Given the description of an element on the screen output the (x, y) to click on. 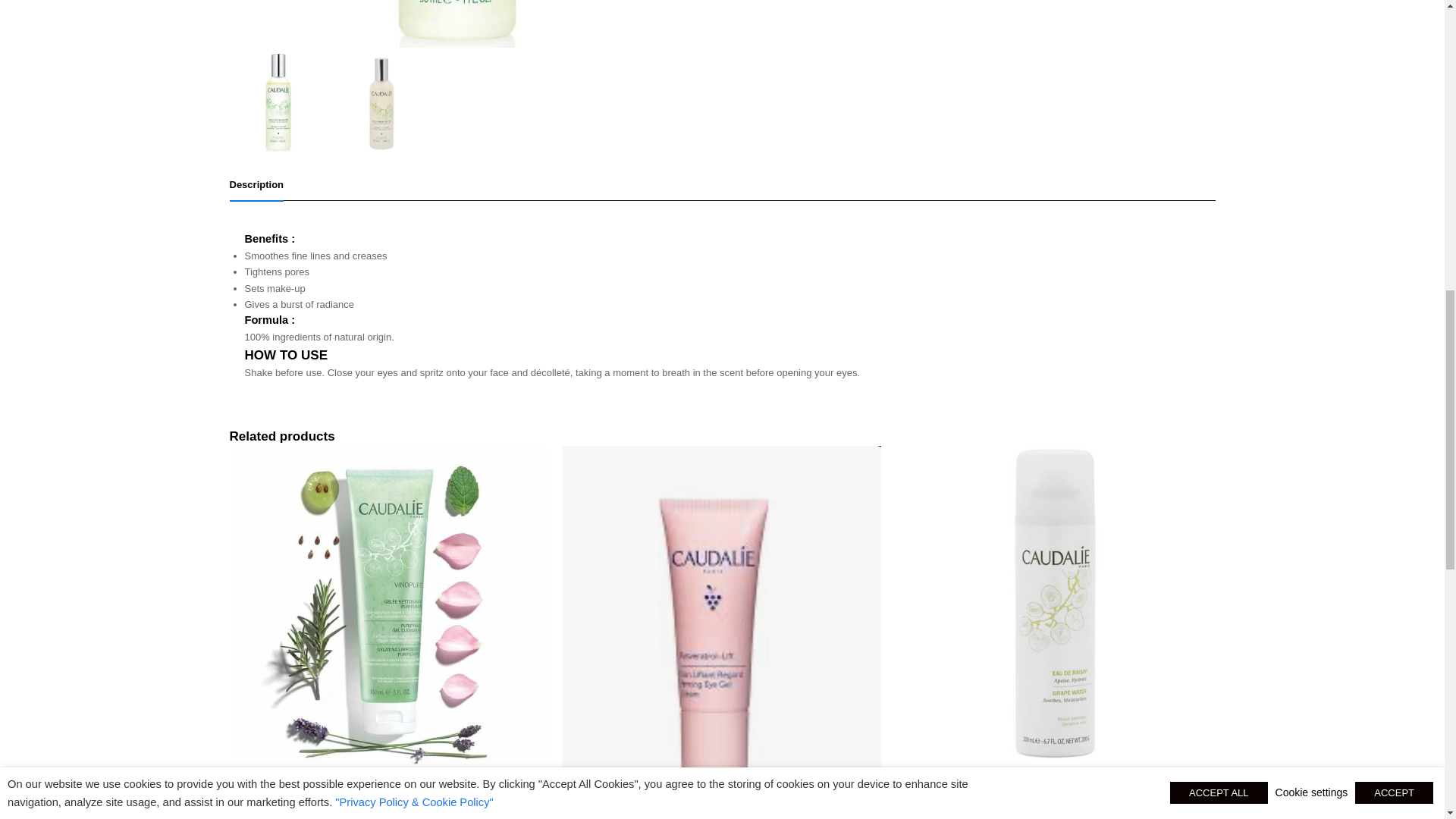
30ml-elixer (456, 23)
